Given the description of an element on the screen output the (x, y) to click on. 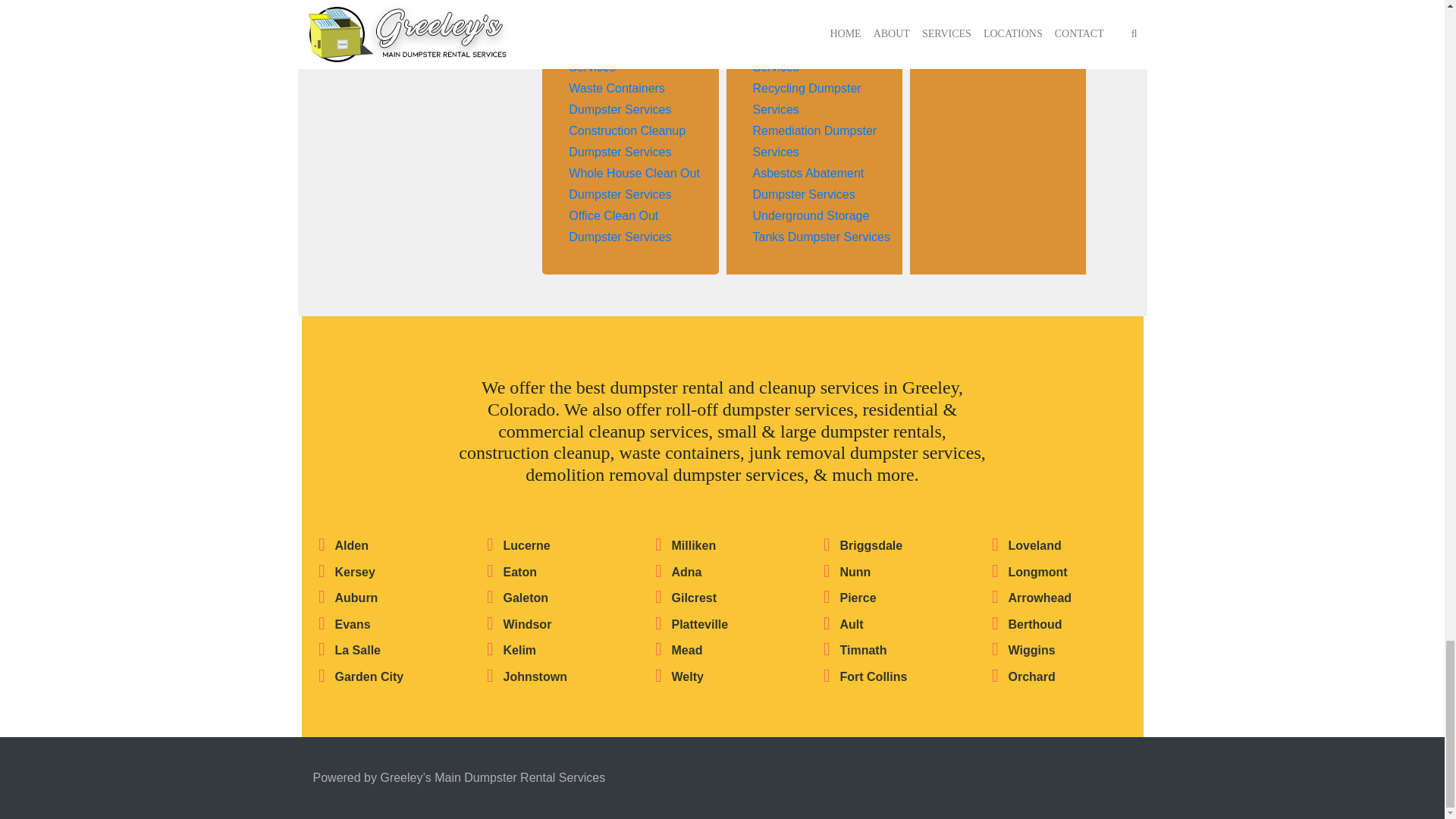
Waste Containers Dumpster Services (620, 98)
Large Residential Projects Dumpster Services (618, 4)
Construction Cleanup Dumpster Services (627, 141)
Office Clean Out Dumpster Services (620, 226)
Whole House Clean Out Dumpster Services (634, 183)
